Given the description of an element on the screen output the (x, y) to click on. 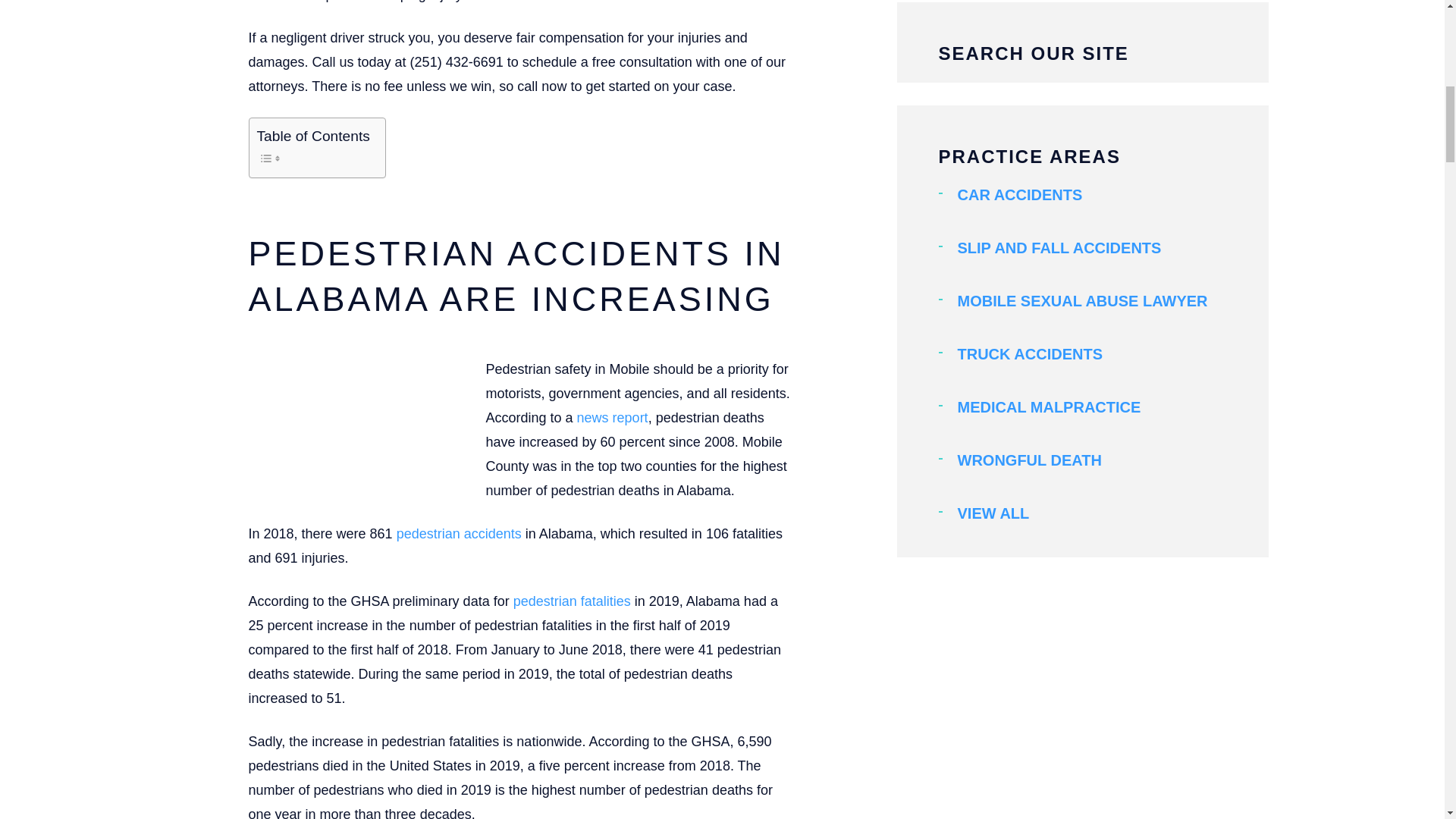
pedestrian fatalities (569, 601)
news report (610, 417)
pedestrian accidents (457, 533)
